Given the description of an element on the screen output the (x, y) to click on. 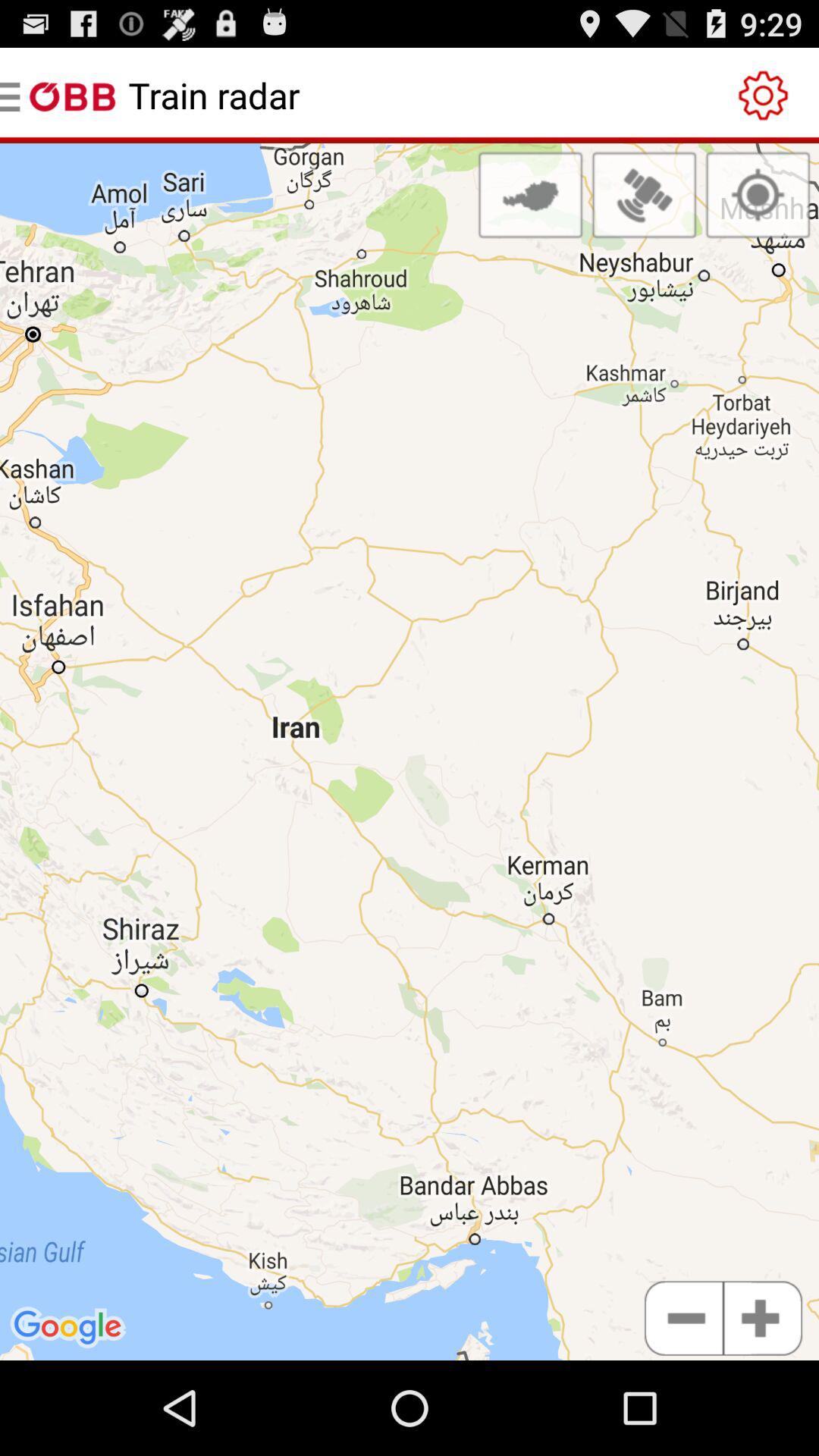
tap icon at the top (530, 194)
